Given the description of an element on the screen output the (x, y) to click on. 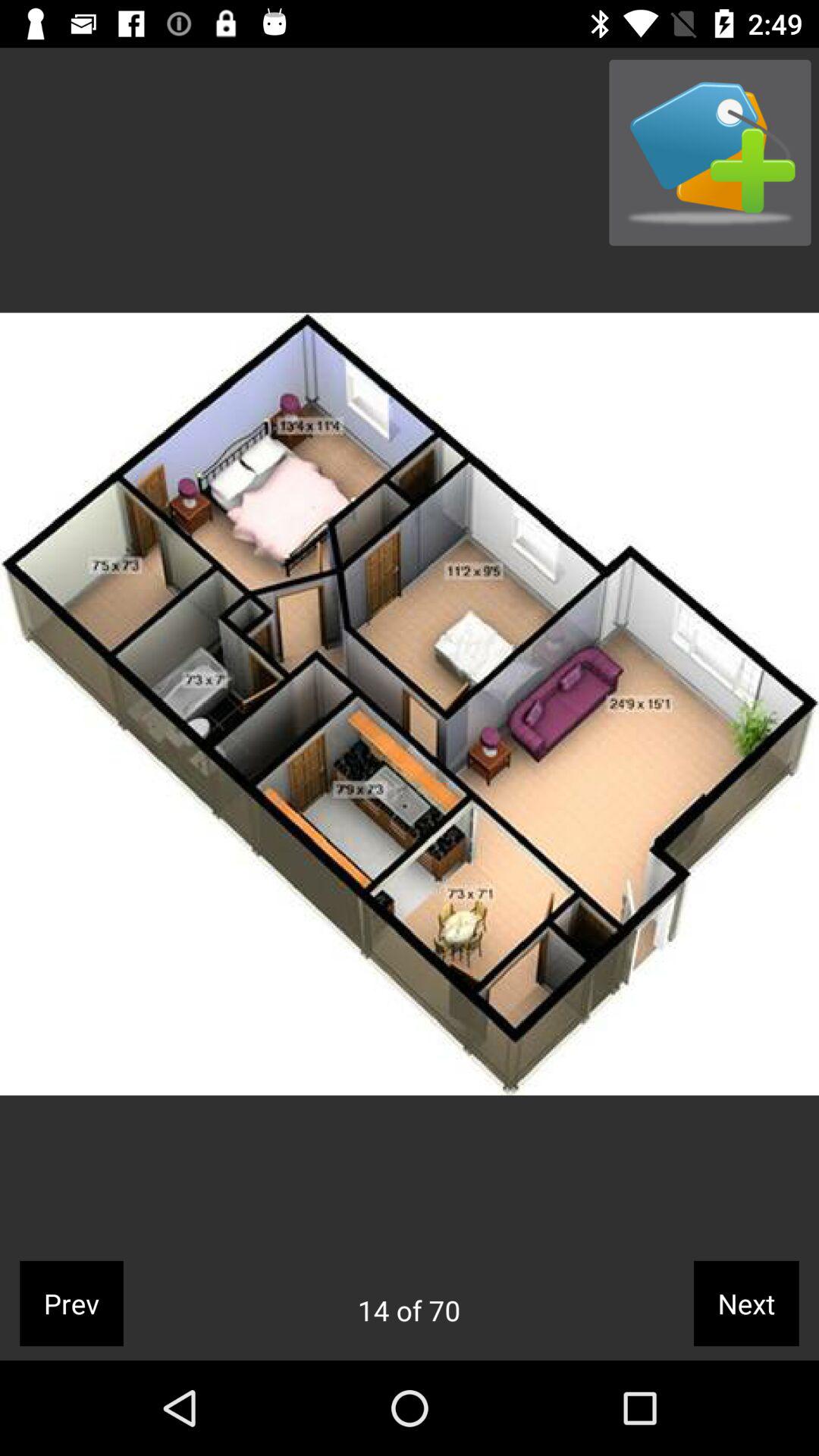
choose icon to the right of 14 of 70 app (746, 1303)
